Given the description of an element on the screen output the (x, y) to click on. 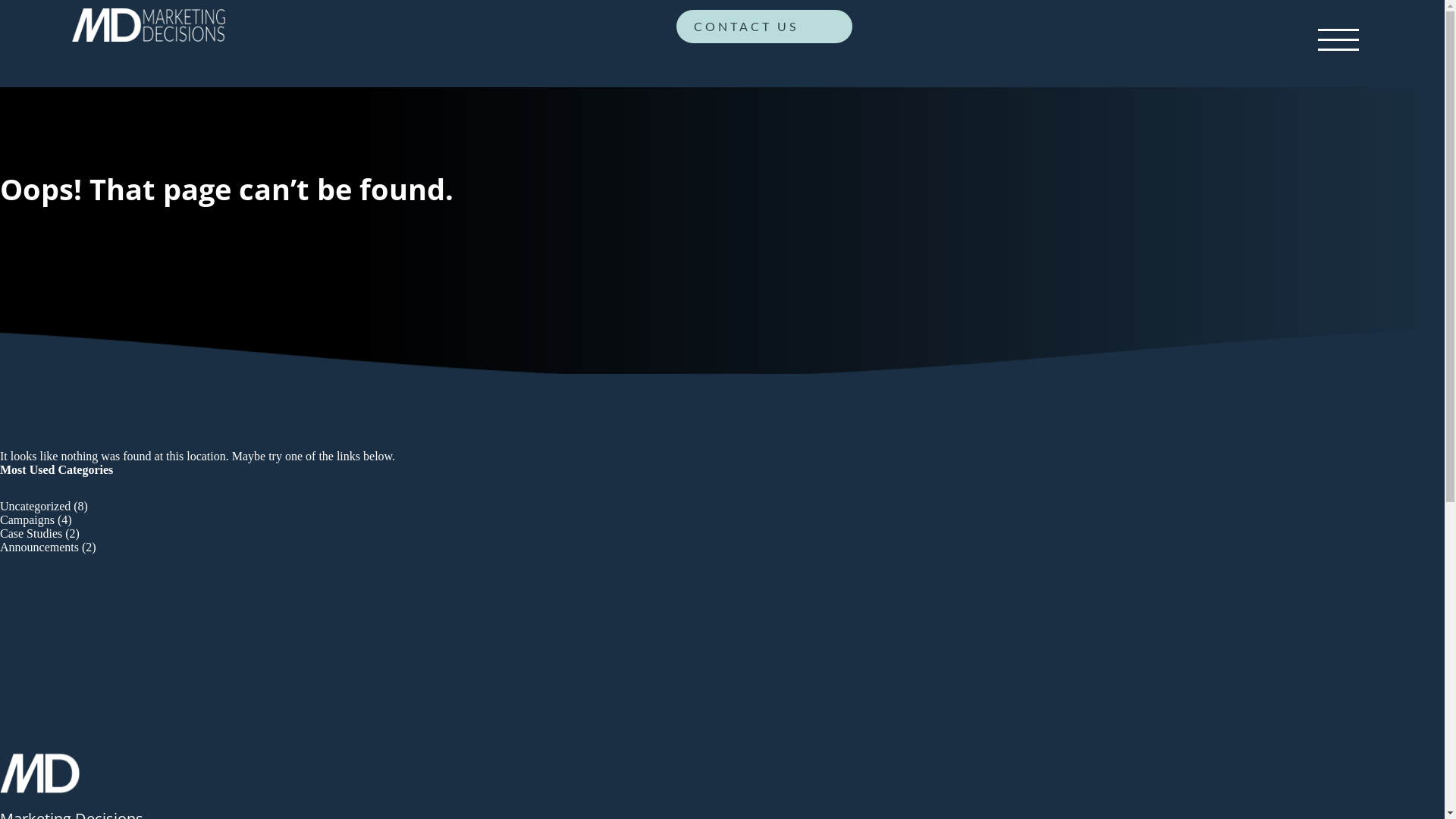
Campaigns Element type: text (27, 519)
CONTACT US Element type: text (764, 26)
Case Studies Element type: text (31, 533)
Announcements Element type: text (39, 546)
CONTACT US Element type: text (764, 29)
Uncategorized Element type: text (35, 505)
